Given the description of an element on the screen output the (x, y) to click on. 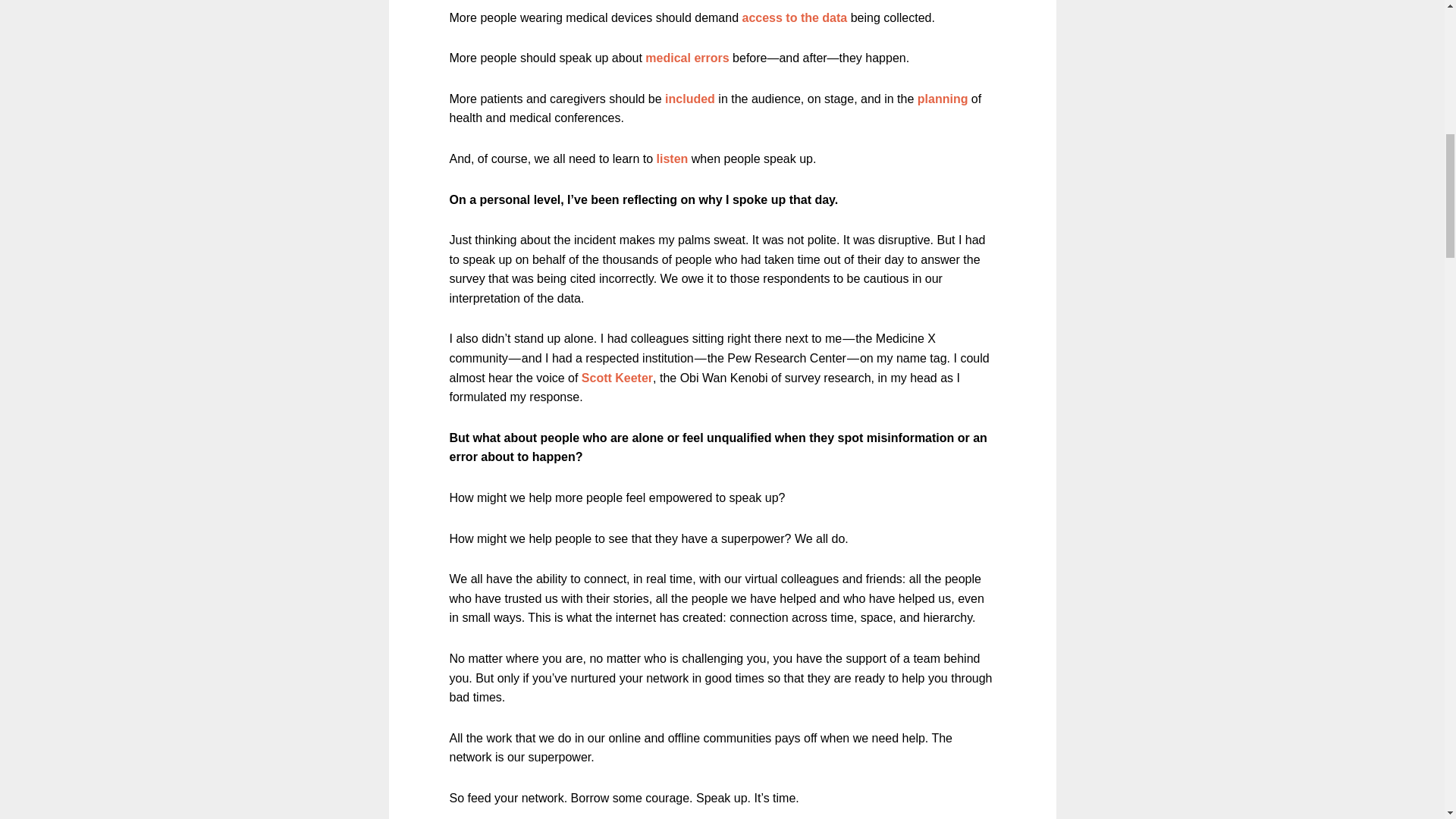
listen (672, 158)
Scott Keeter (616, 377)
planning (942, 98)
access to the data (794, 17)
included (689, 98)
medical errors (687, 57)
